Given the description of an element on the screen output the (x, y) to click on. 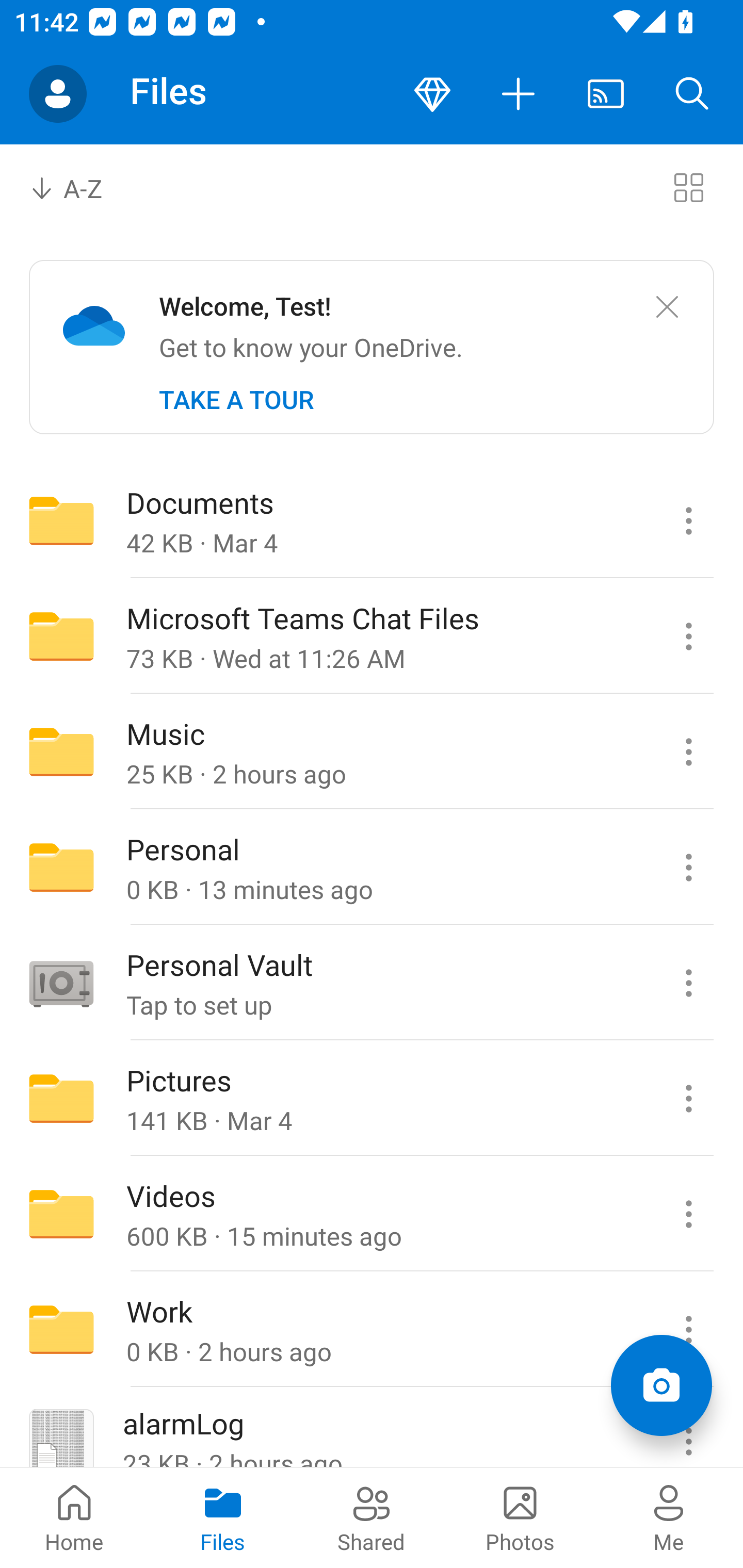
Account switcher (57, 93)
Cast. Disconnected (605, 93)
Premium button (432, 93)
More actions button (518, 93)
Search button (692, 93)
A-Z Sort by combo box, sort by name, A to Z (80, 187)
Switch to tiles view (688, 187)
Close (667, 307)
TAKE A TOUR (236, 399)
Folder Documents 42 KB · Mar 4 Documents commands (371, 520)
Documents commands (688, 520)
Microsoft Teams Chat Files commands (688, 636)
Folder Music 25 KB · 2 hours ago Music commands (371, 751)
Music commands (688, 751)
Personal commands (688, 867)
Personal Vault commands (688, 983)
Folder Pictures 141 KB · Mar 4 Pictures commands (371, 1099)
Pictures commands (688, 1099)
Videos commands (688, 1214)
Folder Work 0 KB · 2 hours ago Work commands (371, 1329)
Work commands (688, 1329)
Add items Scan (660, 1385)
alarmLog commands (688, 1427)
Home pivot Home (74, 1517)
Shared pivot Shared (371, 1517)
Photos pivot Photos (519, 1517)
Me pivot Me (668, 1517)
